Given the description of an element on the screen output the (x, y) to click on. 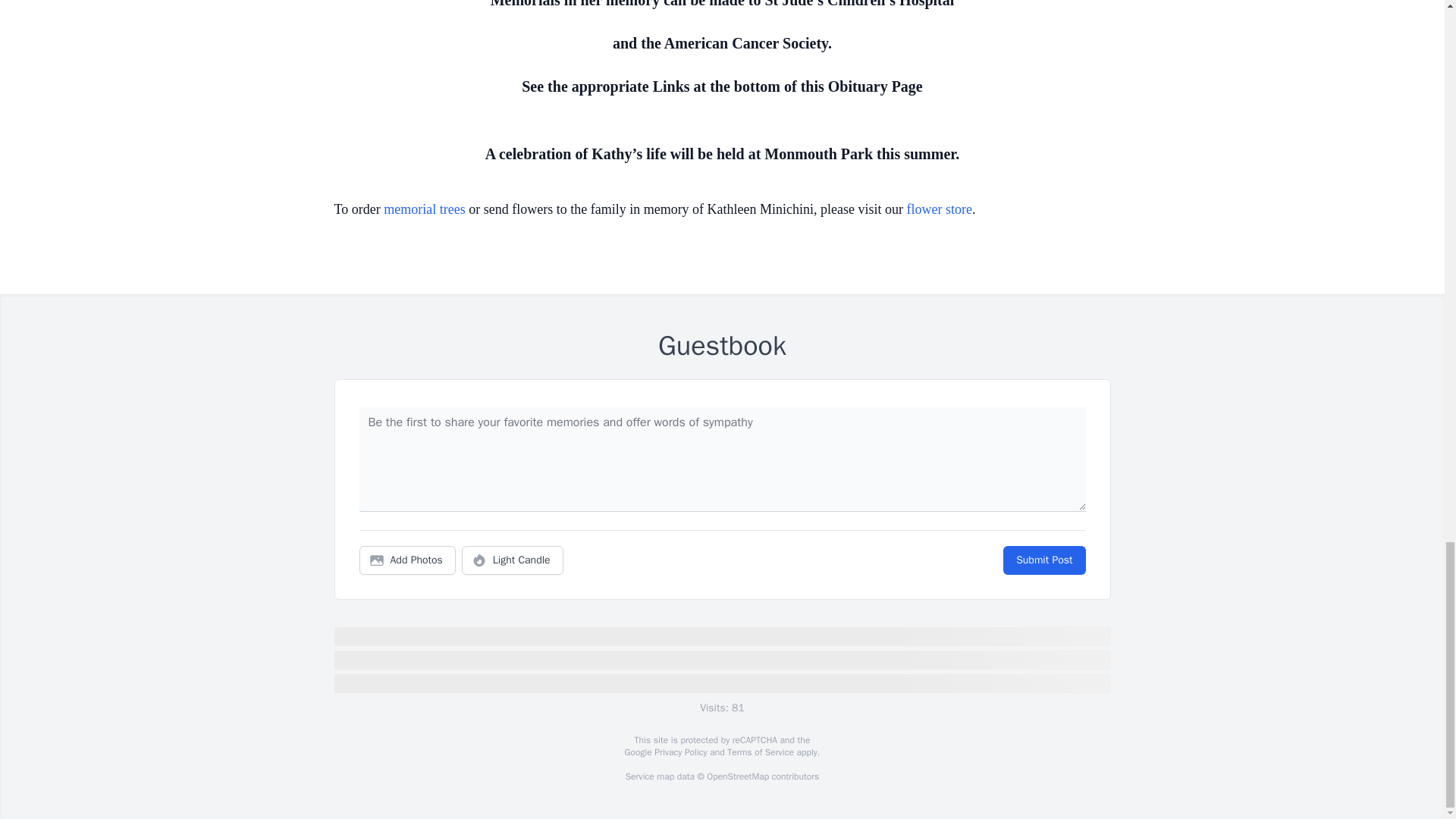
OpenStreetMap (737, 776)
Terms of Service (759, 752)
flower store (939, 209)
Privacy Policy (679, 752)
Add Photos (407, 560)
Light Candle (512, 560)
Submit Post (1043, 560)
memorial trees (424, 209)
